Given the description of an element on the screen output the (x, y) to click on. 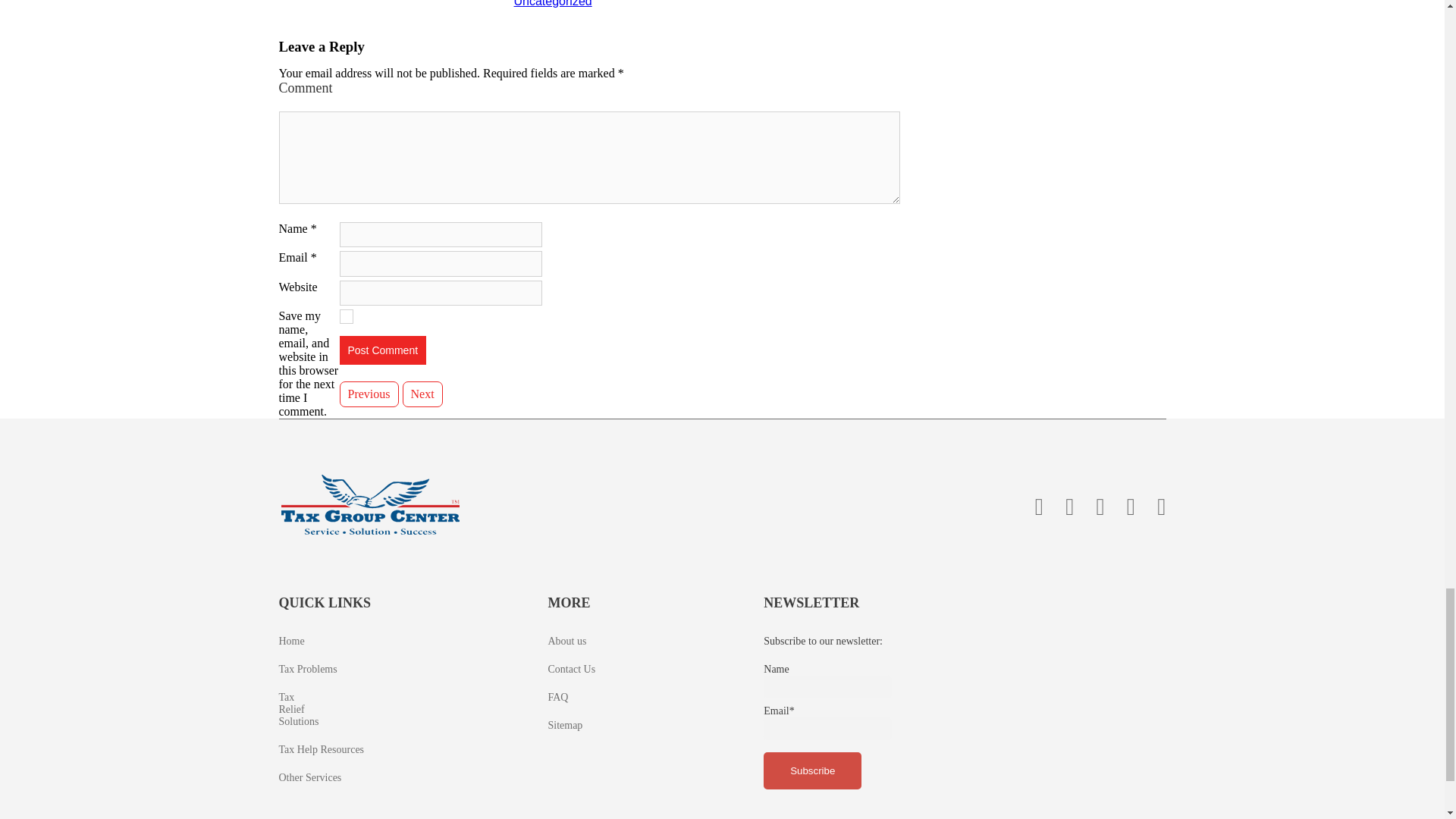
Post Comment (382, 348)
yes (346, 315)
Subscribe (811, 770)
